Given the description of an element on the screen output the (x, y) to click on. 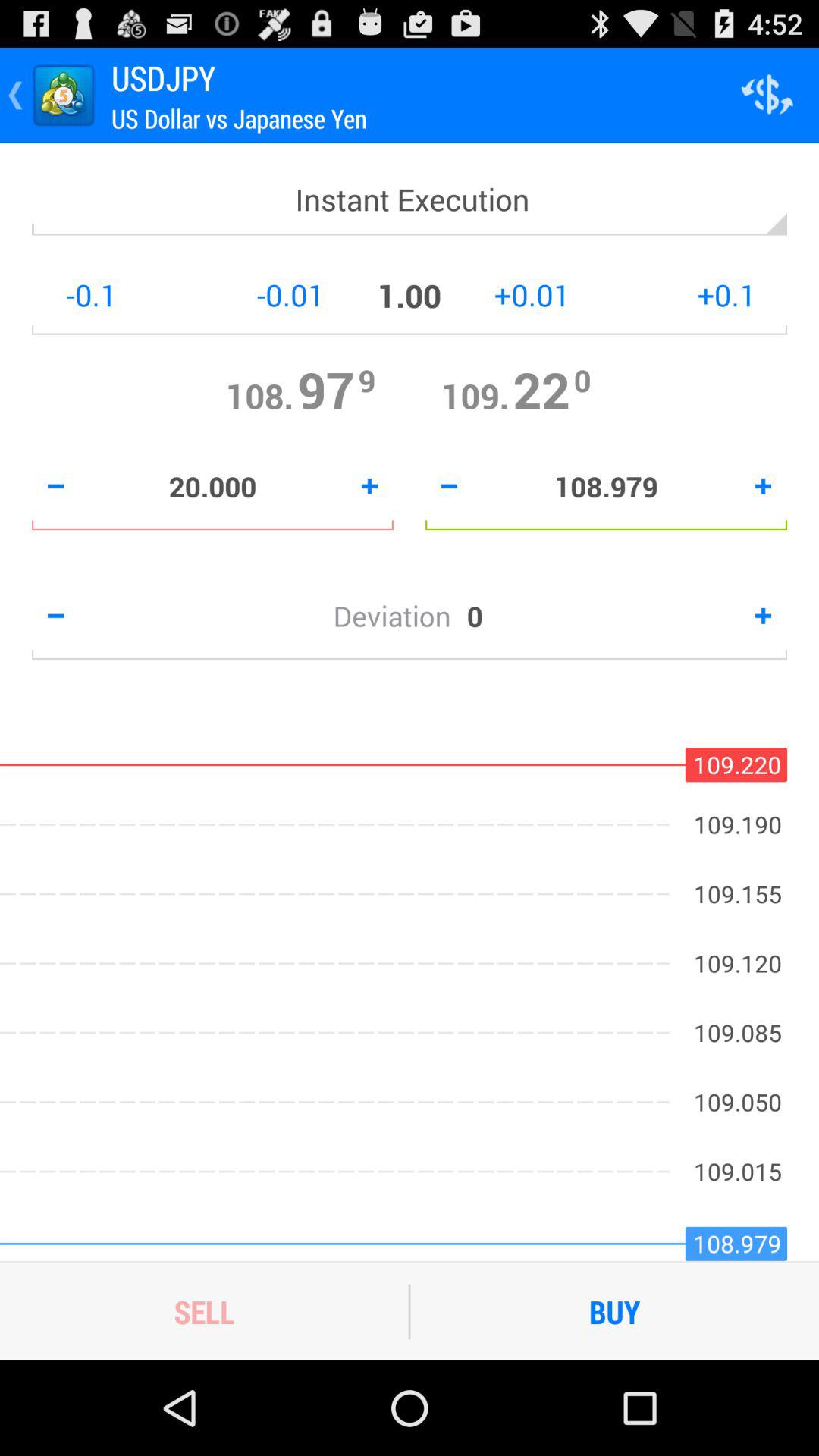
turn on sell at the bottom left corner (204, 1311)
